Given the description of an element on the screen output the (x, y) to click on. 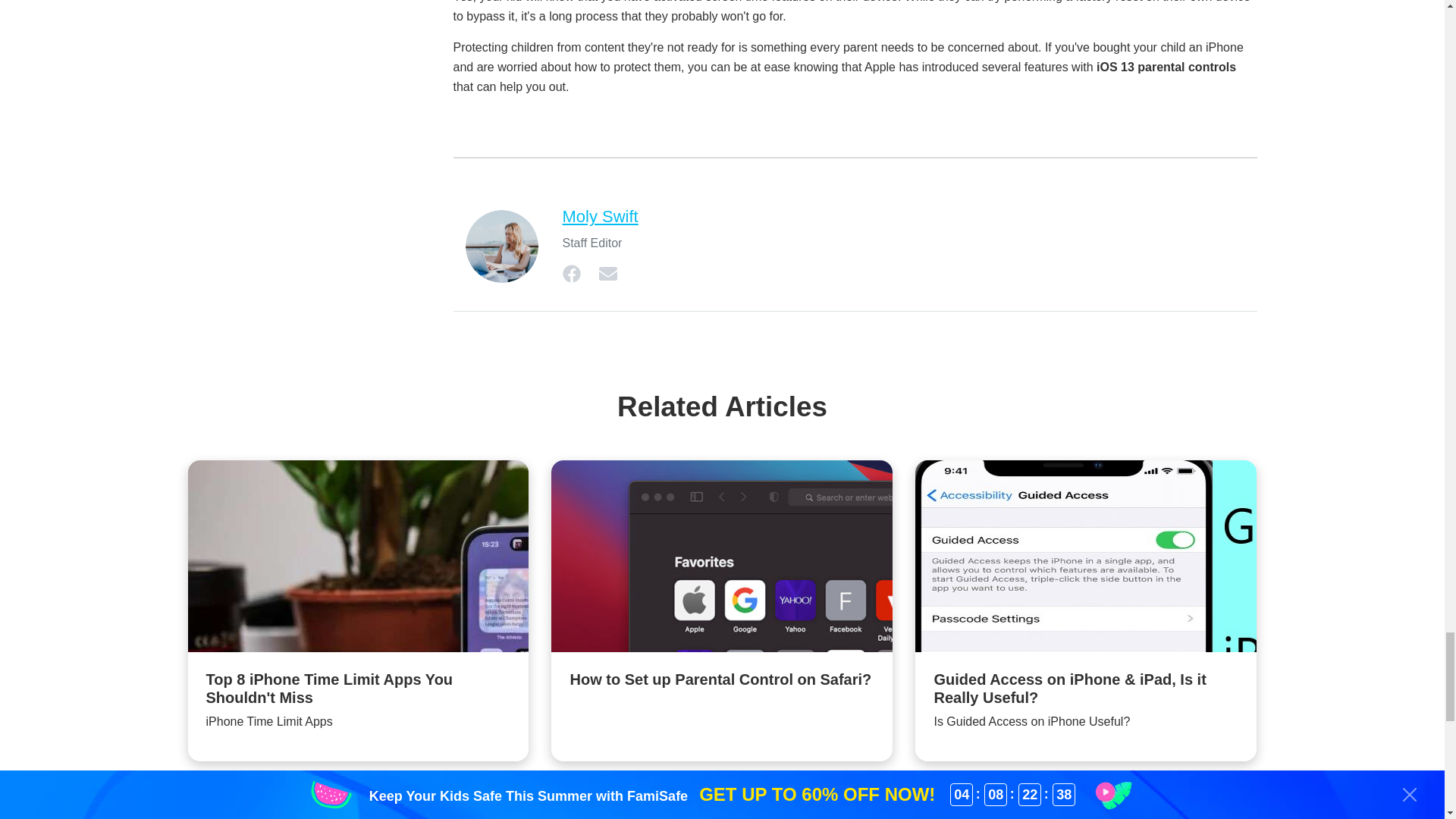
How to Clear App Cache on iPhone to Boost its Performance (358, 802)
What is Ask to Buy on Apple and How to Turn it off? (721, 802)
How to Trust an App on iPhone - the Complete Guide (1085, 802)
How to Set up Parental Control on Safari? (721, 589)
Top 8 iPhone Time Limit Apps You Shouldn't Miss (358, 610)
